Given the description of an element on the screen output the (x, y) to click on. 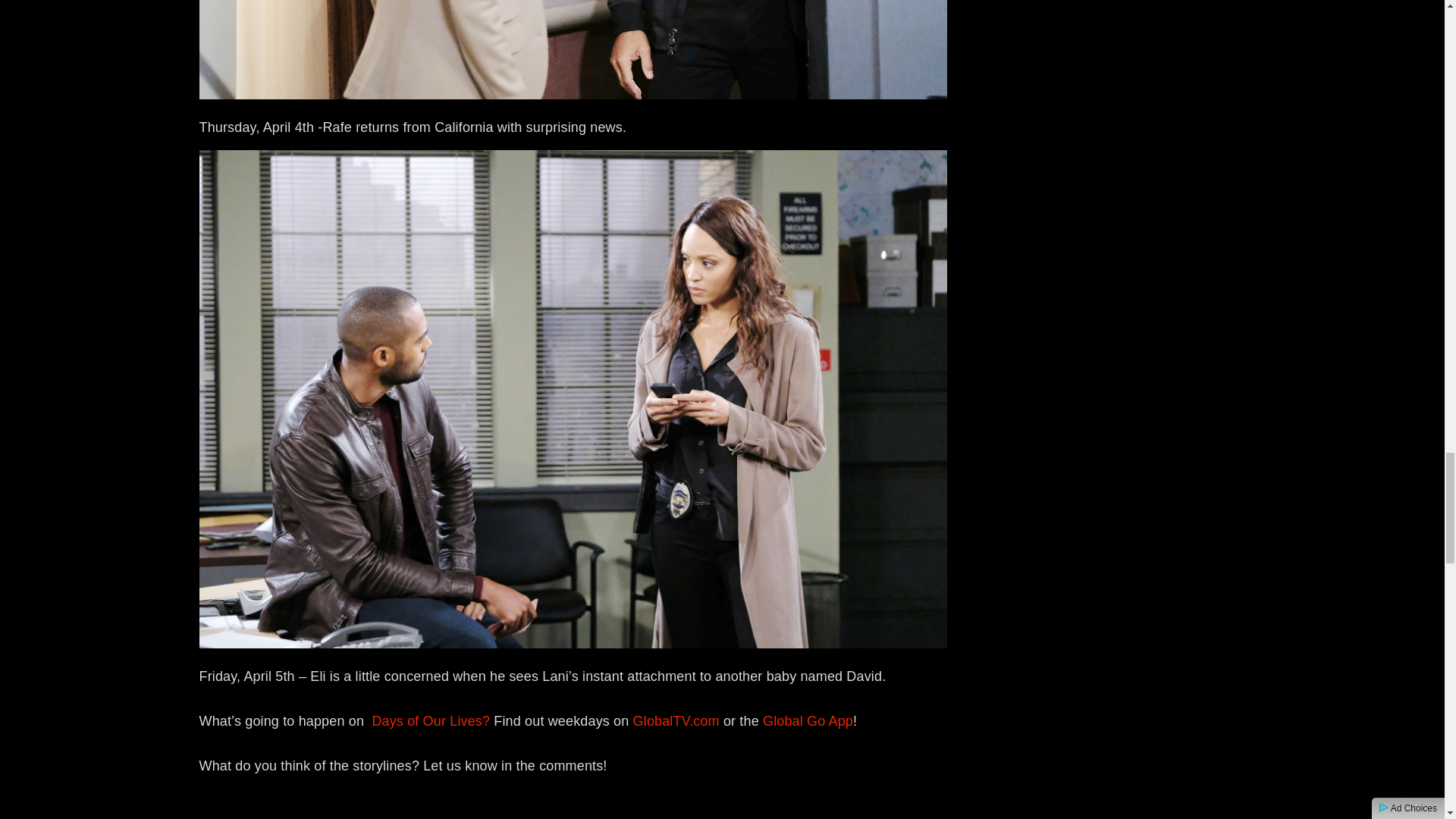
Global Go App (807, 720)
GlobalTV.com (676, 720)
Days of Our Lives? (432, 720)
